Given the description of an element on the screen output the (x, y) to click on. 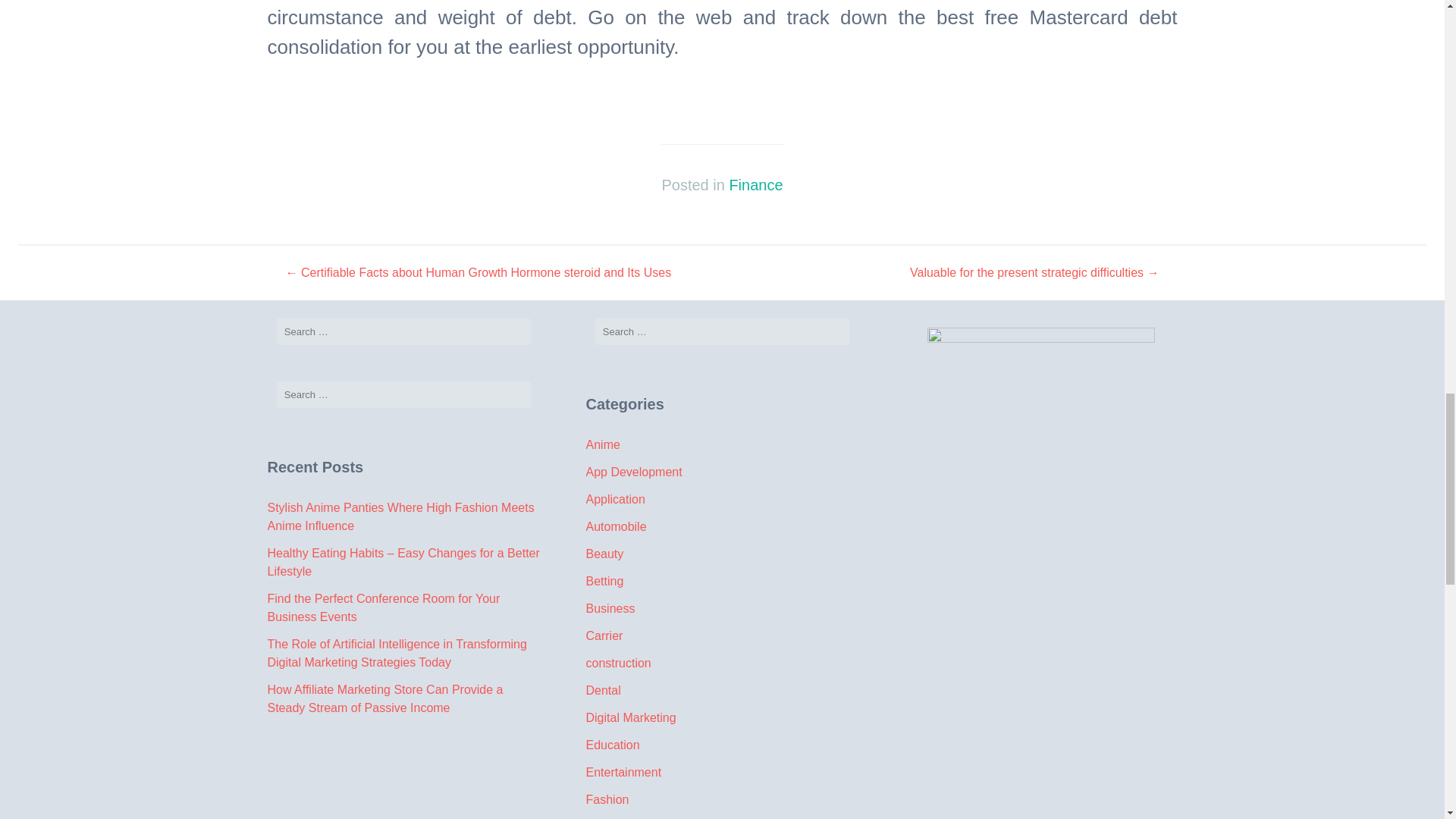
Anime (602, 444)
Fashion (606, 799)
Automobile (615, 526)
Carrier (604, 635)
App Development (633, 472)
construction (617, 662)
Find the Perfect Conference Room for Your Business Events (382, 607)
Digital Marketing (630, 717)
Education (612, 744)
Dental (602, 689)
Application (615, 499)
Business (609, 608)
